Given the description of an element on the screen output the (x, y) to click on. 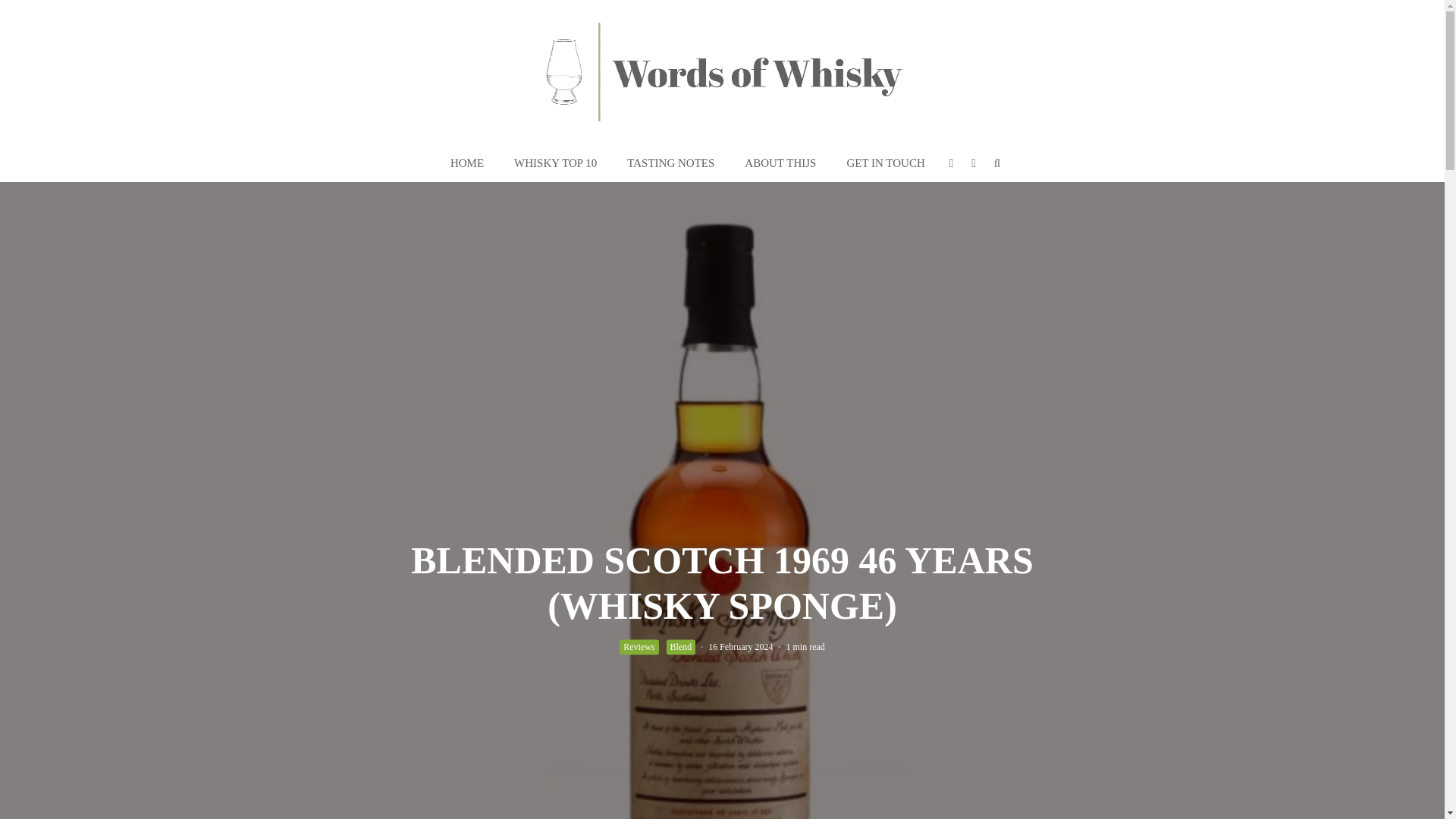
WHISKY TOP 10 (555, 162)
Reviews (639, 646)
ABOUT THIJS (780, 162)
HOME (467, 162)
GET IN TOUCH (885, 162)
Blend (680, 646)
TASTING NOTES (670, 162)
